Given the description of an element on the screen output the (x, y) to click on. 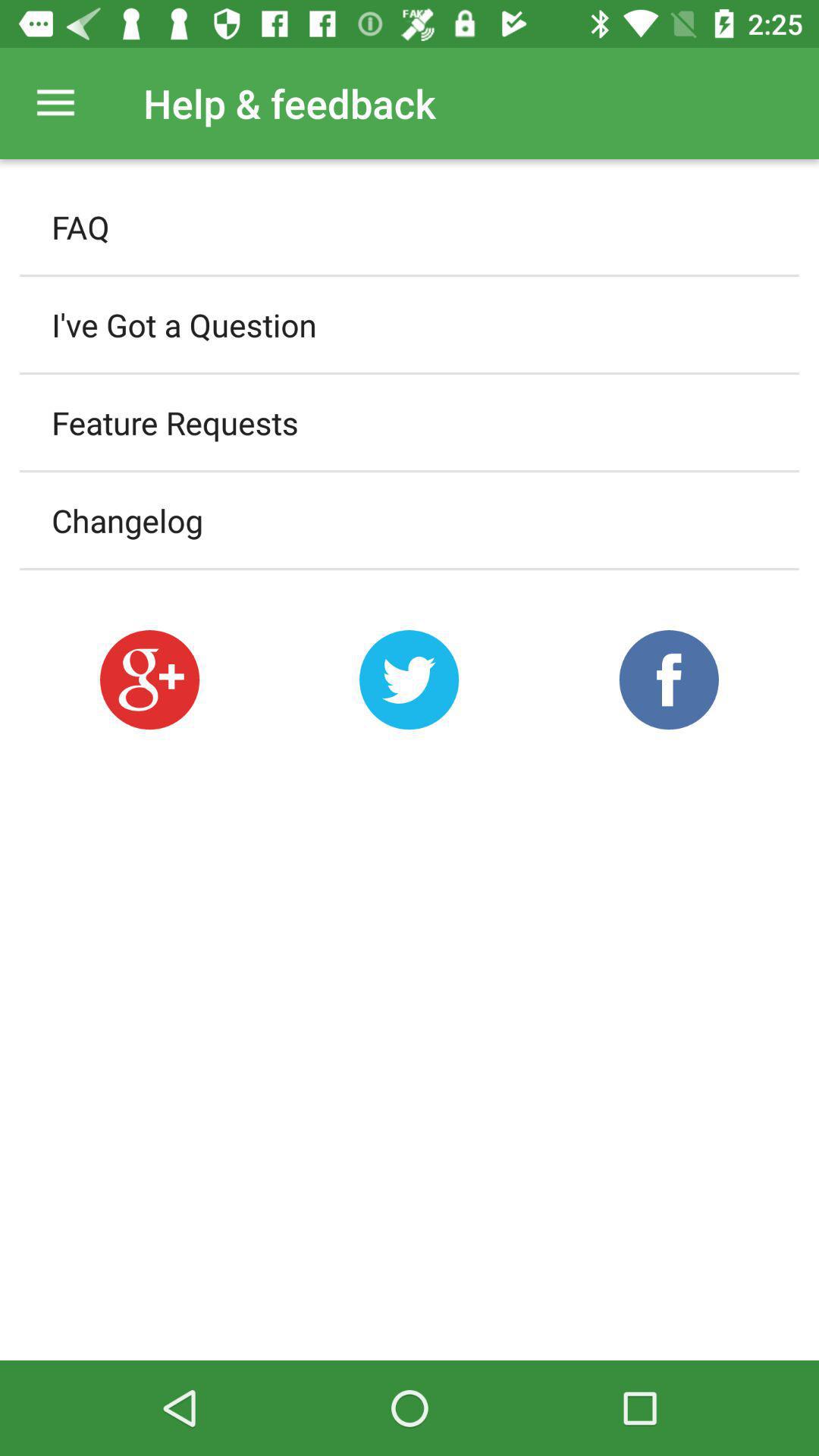
scroll to the changelog icon (409, 520)
